Given the description of an element on the screen output the (x, y) to click on. 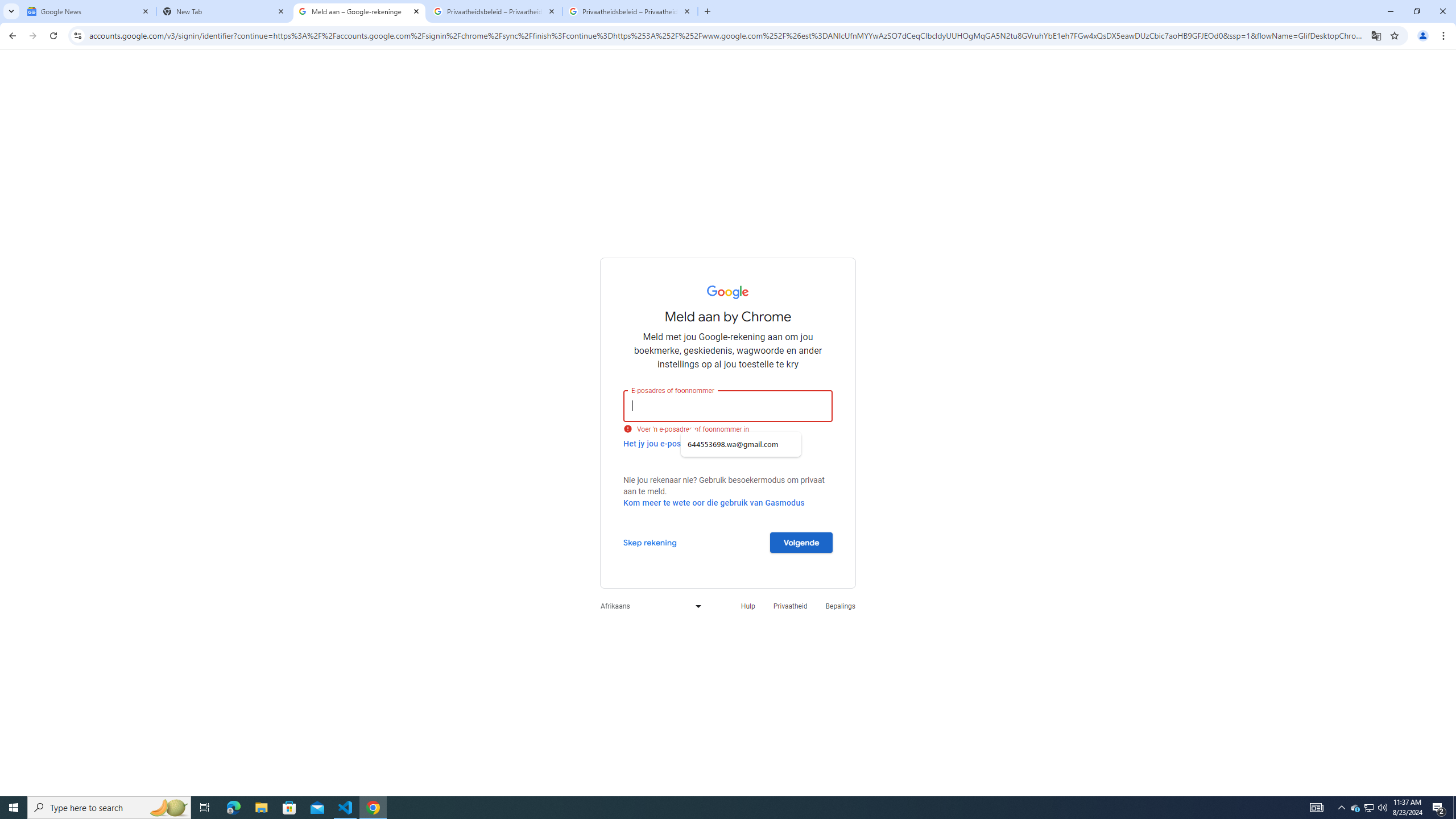
Translate this page (1376, 35)
Het jy jou e-posadres vergeet? (678, 443)
Privaatheid (790, 605)
Hulp (747, 605)
Google News (88, 11)
644553698.wa@gmail.com (740, 444)
Kom meer te wete oor die gebruik van Gasmodus (713, 503)
Skep rekening (649, 541)
